Given the description of an element on the screen output the (x, y) to click on. 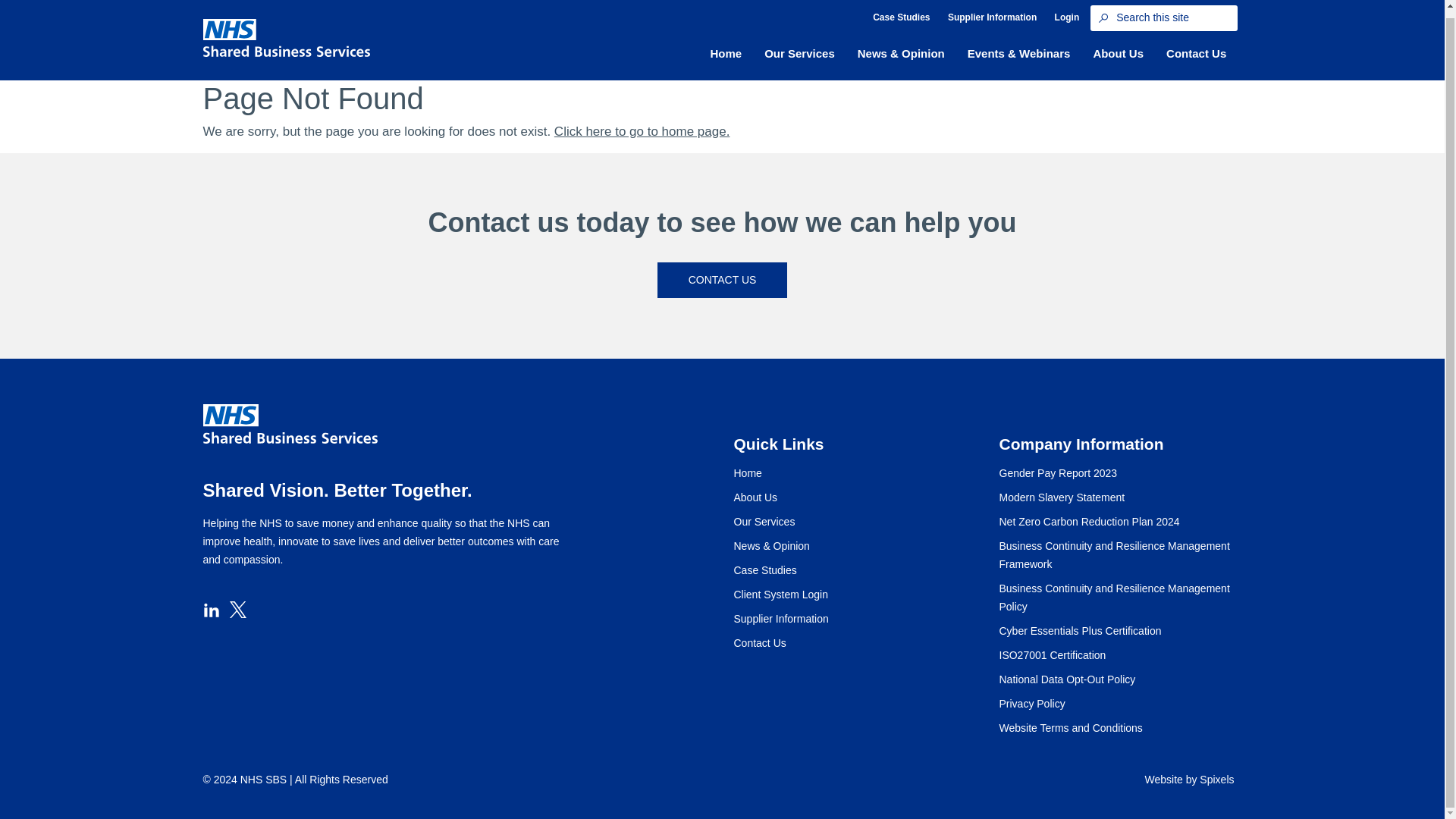
Supplier Information (991, 17)
Home (725, 54)
Our Services (799, 54)
Login (1066, 17)
Case Studies (900, 17)
